Given the description of an element on the screen output the (x, y) to click on. 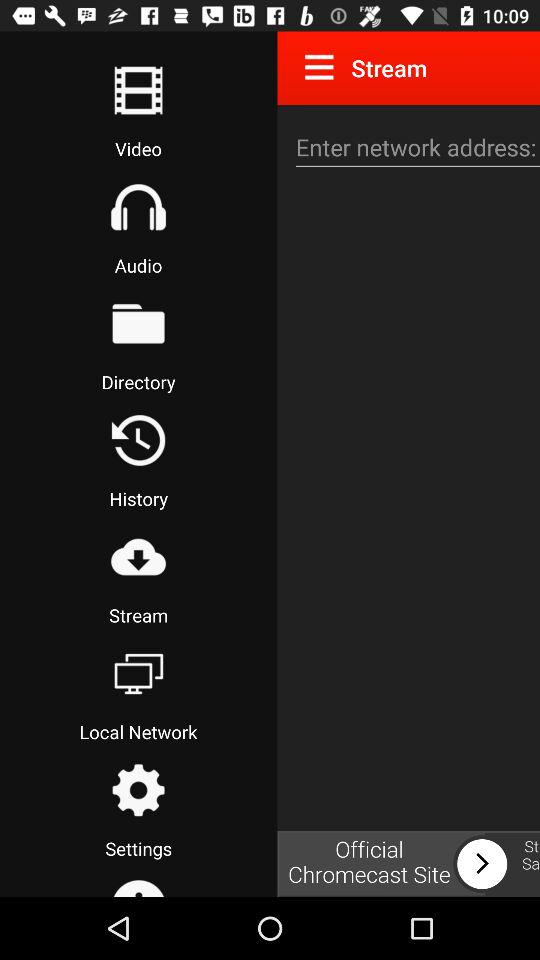
go back to history (138, 440)
